Given the description of an element on the screen output the (x, y) to click on. 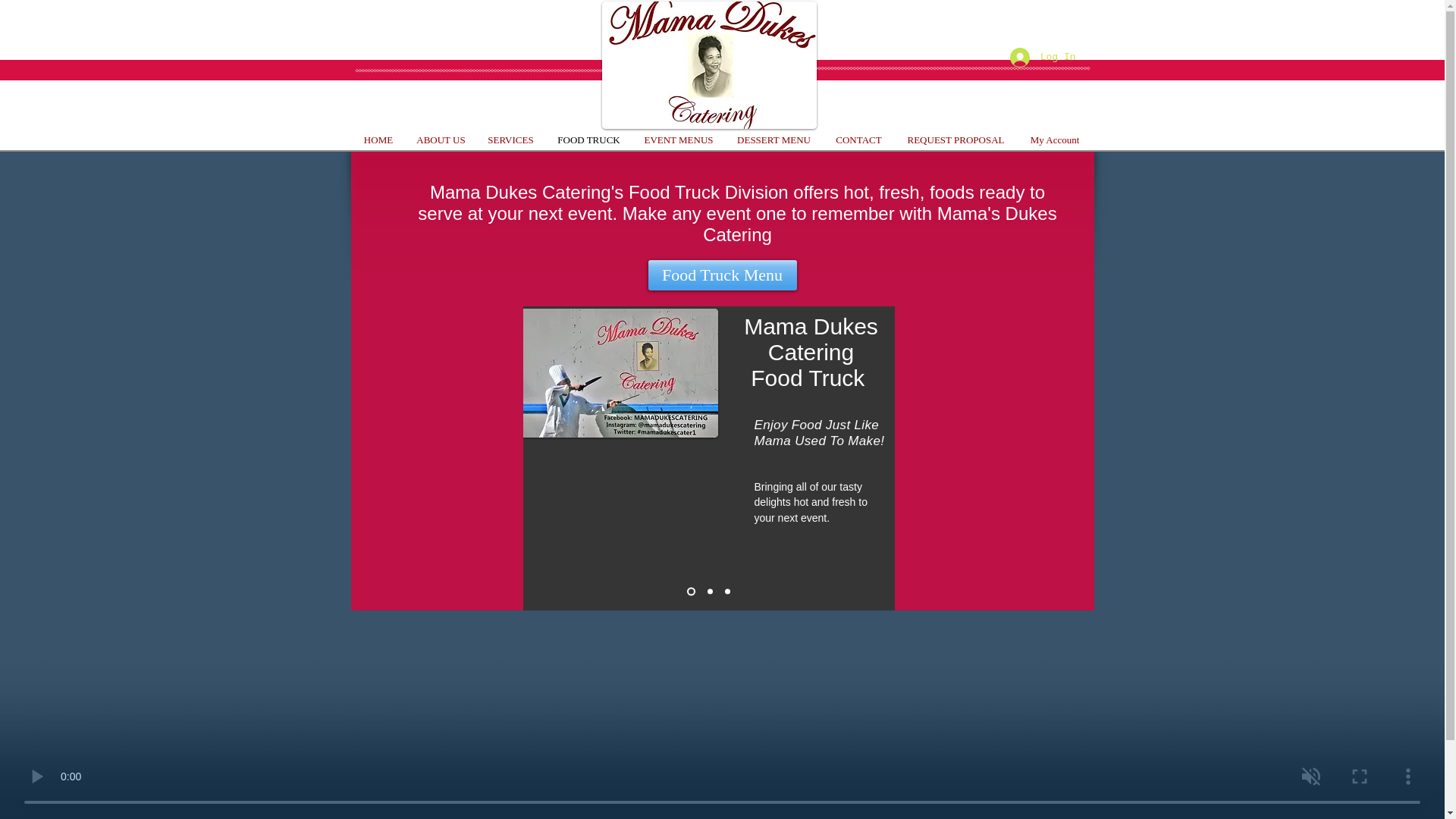
ABOUT US (440, 139)
My Account (1055, 139)
FOOD TRUCK (587, 139)
Food Truck Menu (721, 275)
CONTACT (859, 139)
HOME (379, 139)
SERVICES (510, 139)
EVENT MENUS (677, 139)
REQUEST PROPOSAL (956, 139)
DESSERT MENU (774, 139)
Log In (1042, 57)
Mama Dukes Logo Site2.jpg (709, 64)
